Given the description of an element on the screen output the (x, y) to click on. 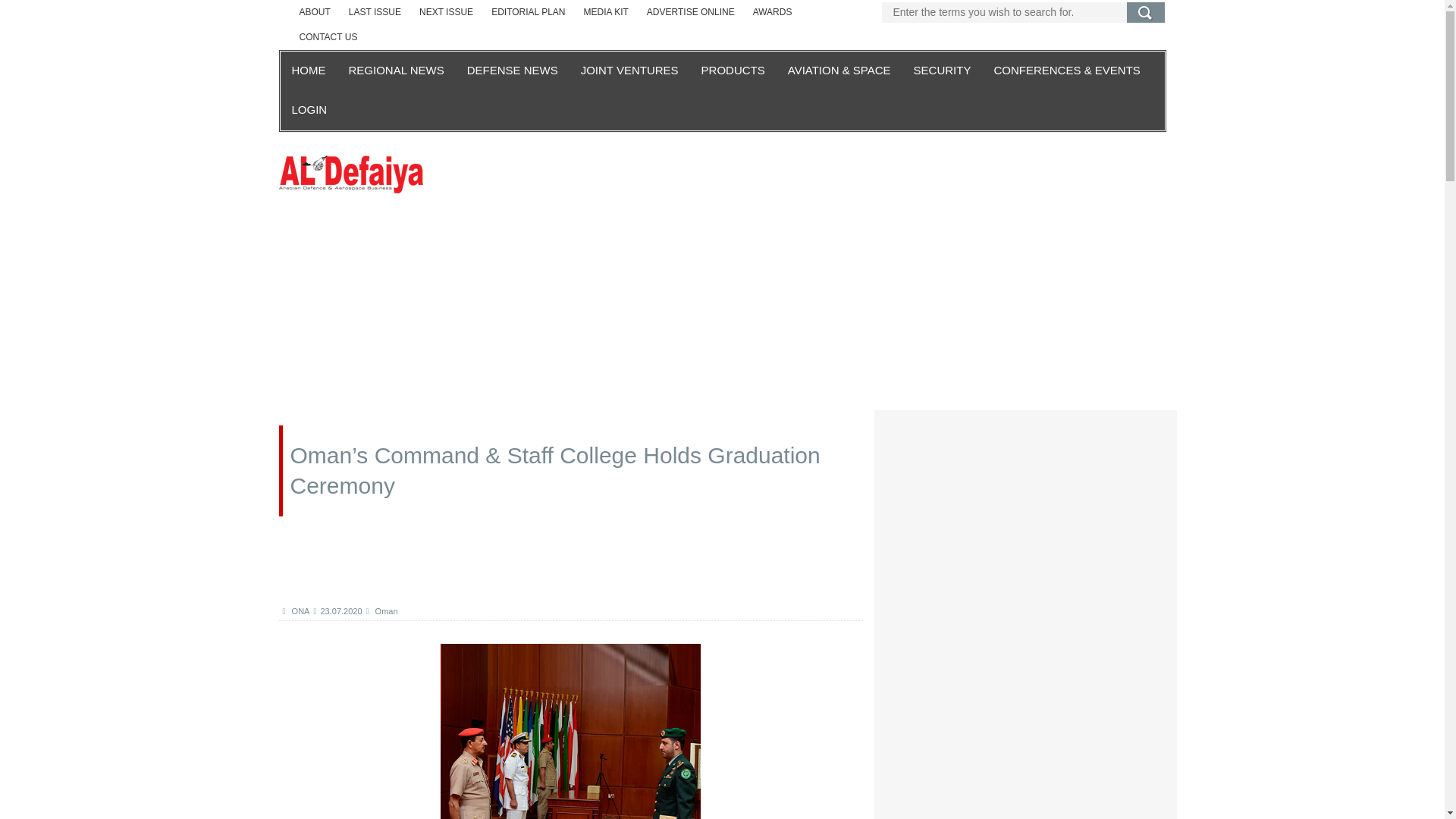
LAST ISSUE (374, 12)
HOME (309, 70)
SECURITY (942, 70)
LOGIN (310, 110)
NEXT ISSUE (445, 12)
Oman (381, 610)
Search (1145, 12)
CONTACT US (327, 37)
AWARDS (773, 12)
ONA (295, 610)
